Given the description of an element on the screen output the (x, y) to click on. 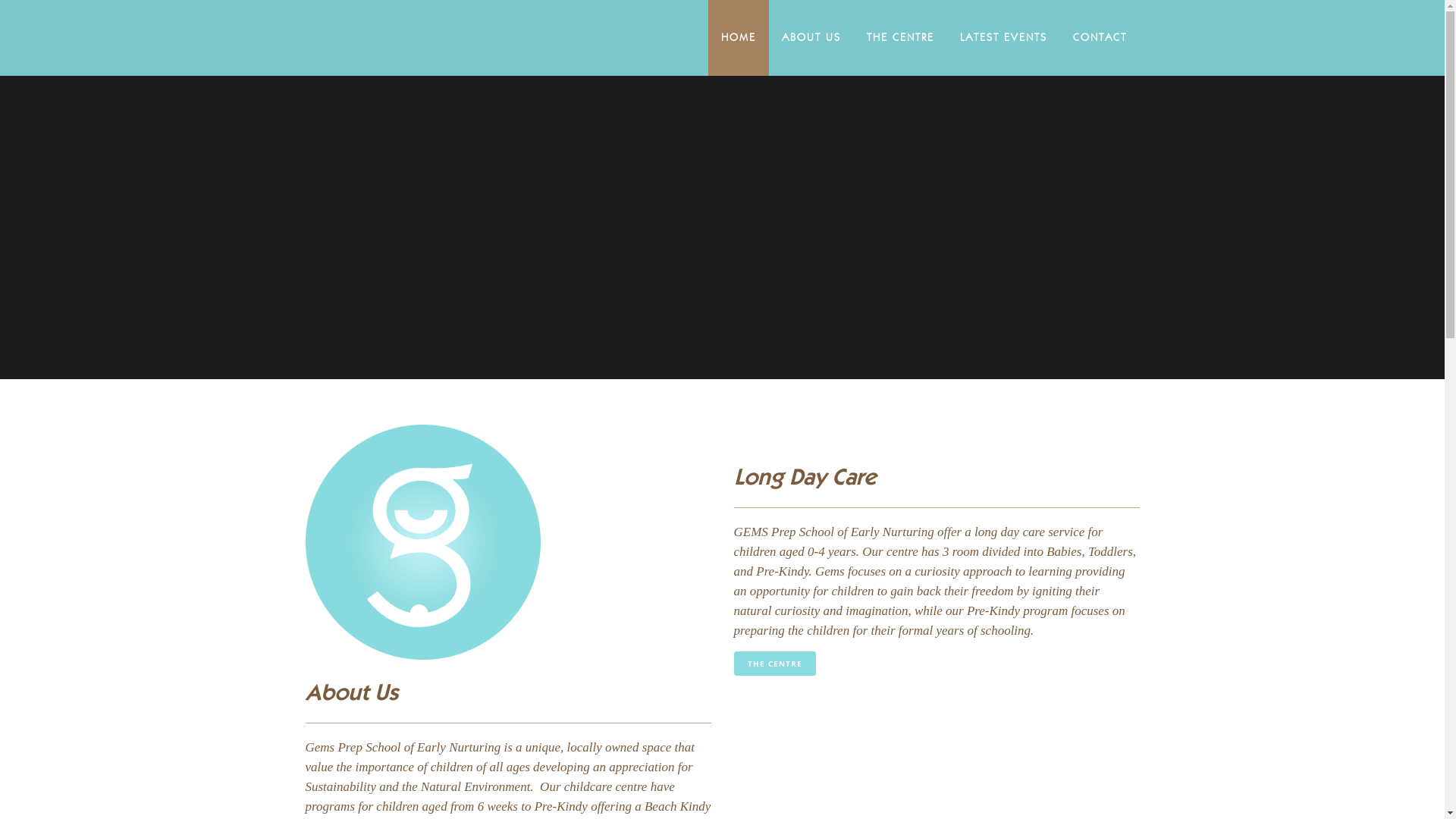
ABOUT US Element type: text (810, 37)
THE CENTRE Element type: text (774, 662)
CONTACT Element type: text (1099, 37)
LATEST EVENTS Element type: text (1002, 37)
HOME Element type: text (738, 37)
THE CENTRE Element type: text (900, 37)
